Given the description of an element on the screen output the (x, y) to click on. 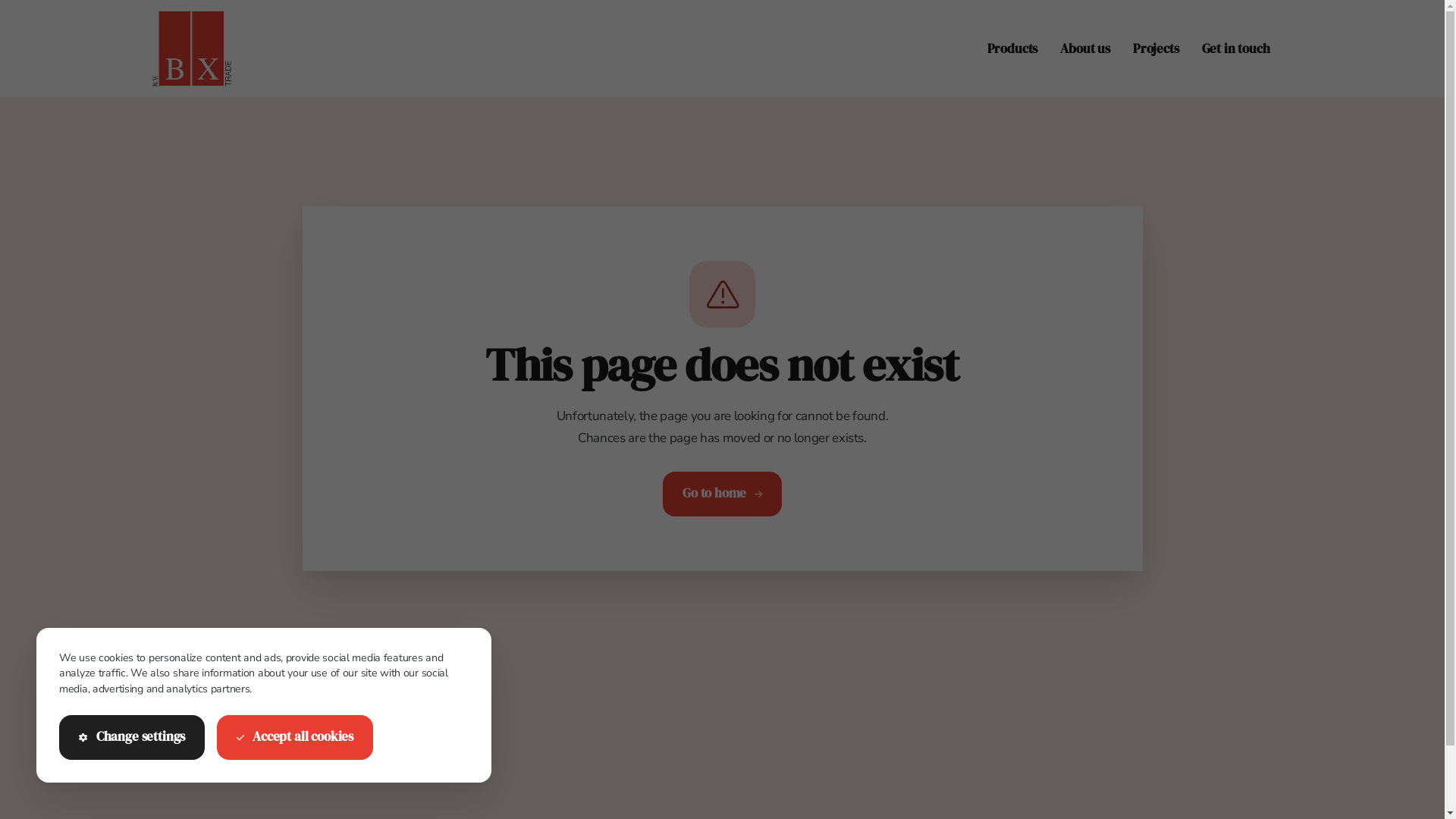
Projects Element type: text (1155, 48)
About us Element type: text (1085, 48)
Products Element type: text (1012, 48)
Get in touch Element type: text (1235, 48)
Go to home Element type: text (721, 493)
